Given the description of an element on the screen output the (x, y) to click on. 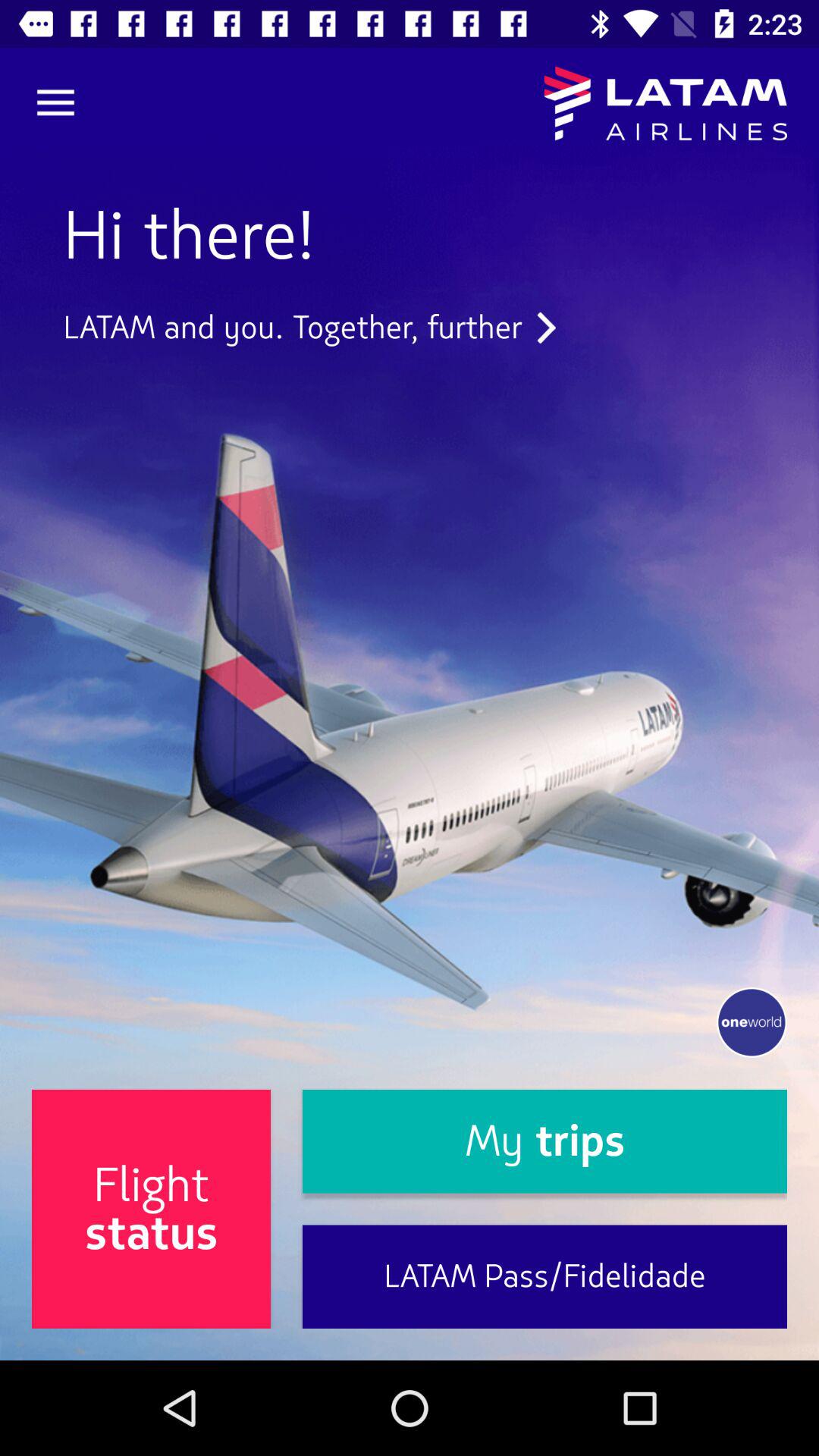
press the my trips icon (544, 1141)
